Given the description of an element on the screen output the (x, y) to click on. 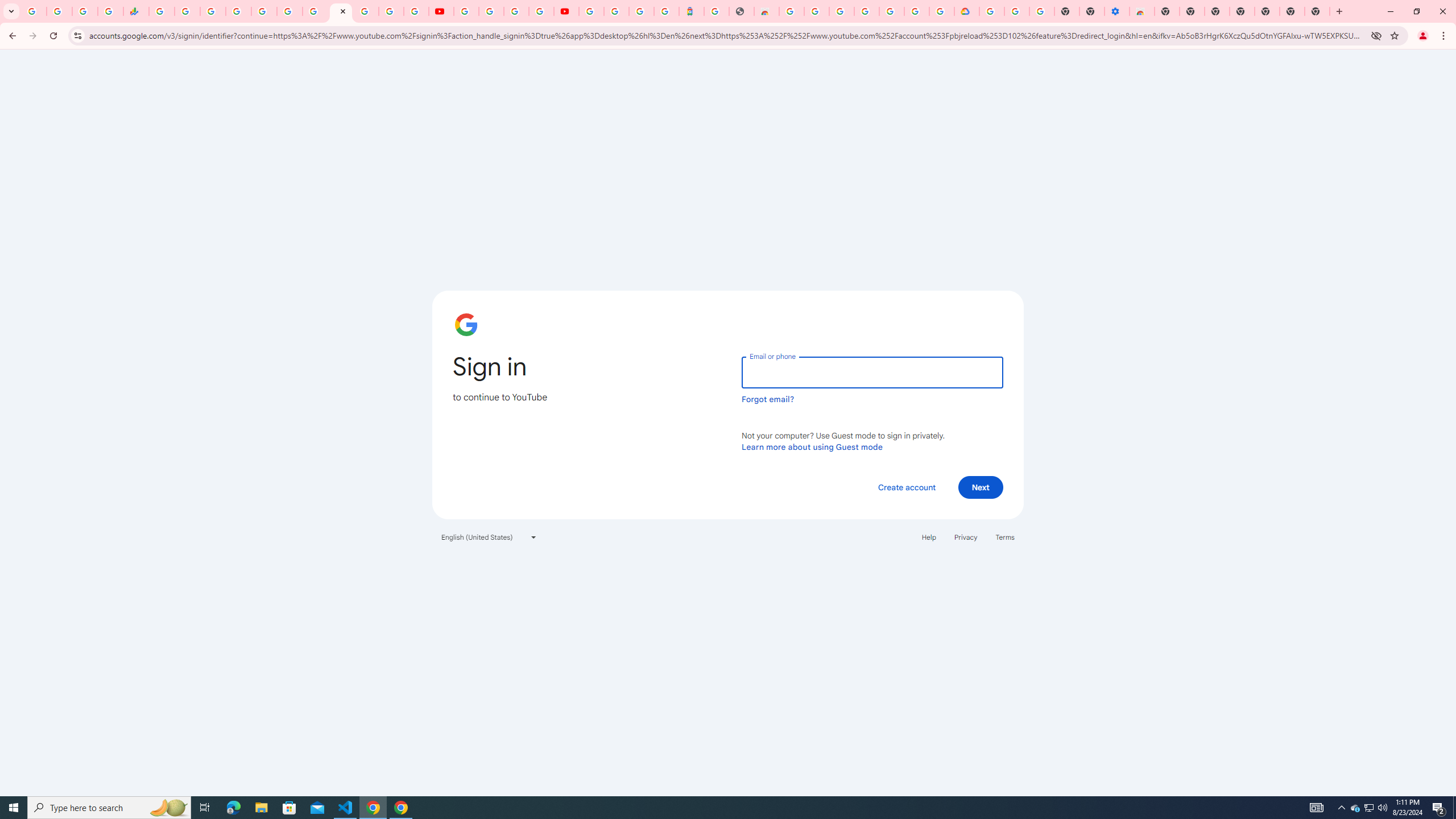
Android TV Policies and Guidelines - Transparency Center (315, 11)
Sign in - Google Accounts (590, 11)
Email or phone (871, 372)
YouTube (465, 11)
Chrome Web Store - Household (766, 11)
